Given the description of an element on the screen output the (x, y) to click on. 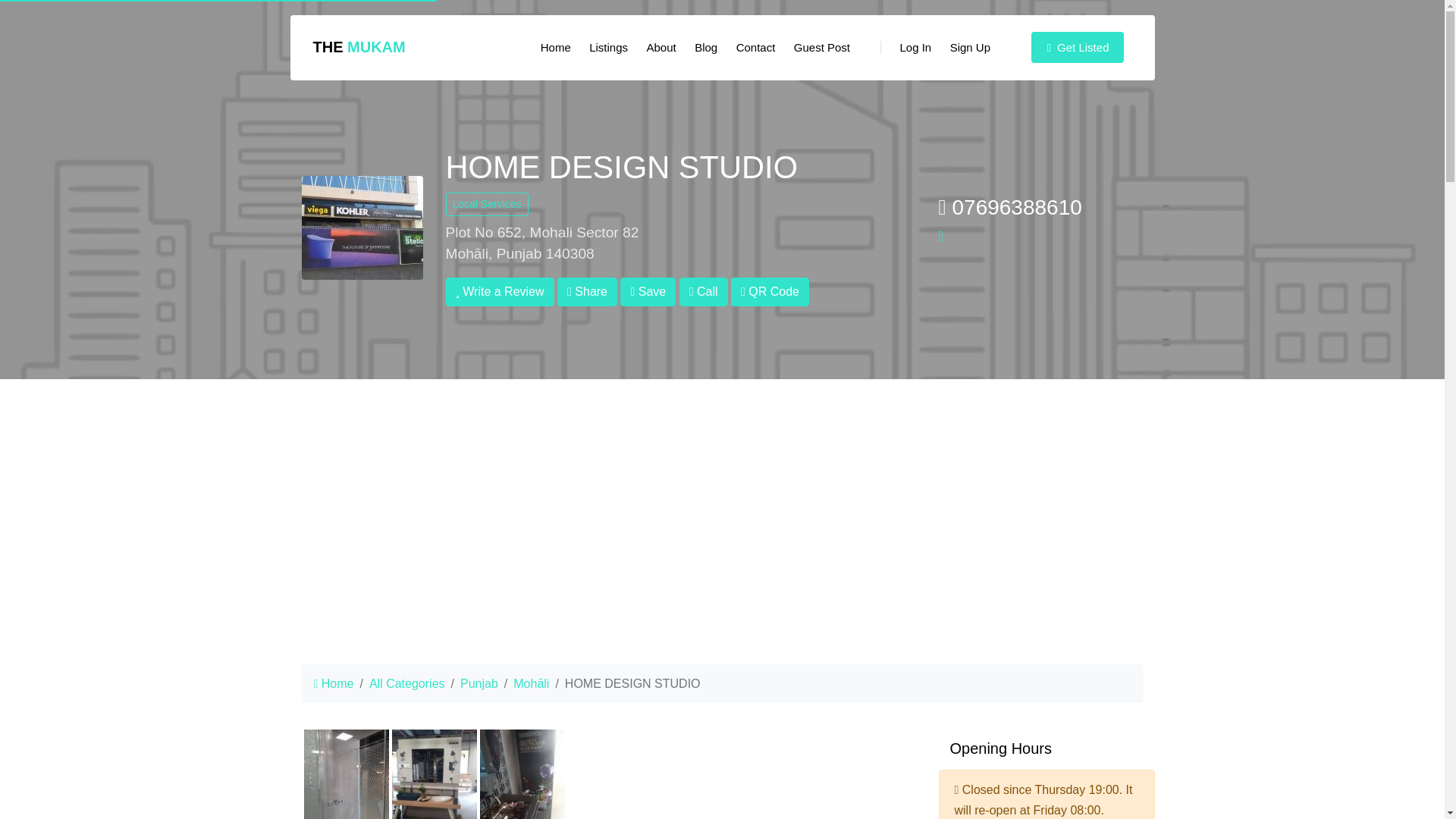
Call (703, 291)
Sign Up (969, 47)
Write a Review (499, 291)
Guest Post (821, 47)
Share (587, 291)
Log In (905, 47)
Contact (756, 47)
Local Services (486, 204)
THE MUKAM (358, 46)
